Given the description of an element on the screen output the (x, y) to click on. 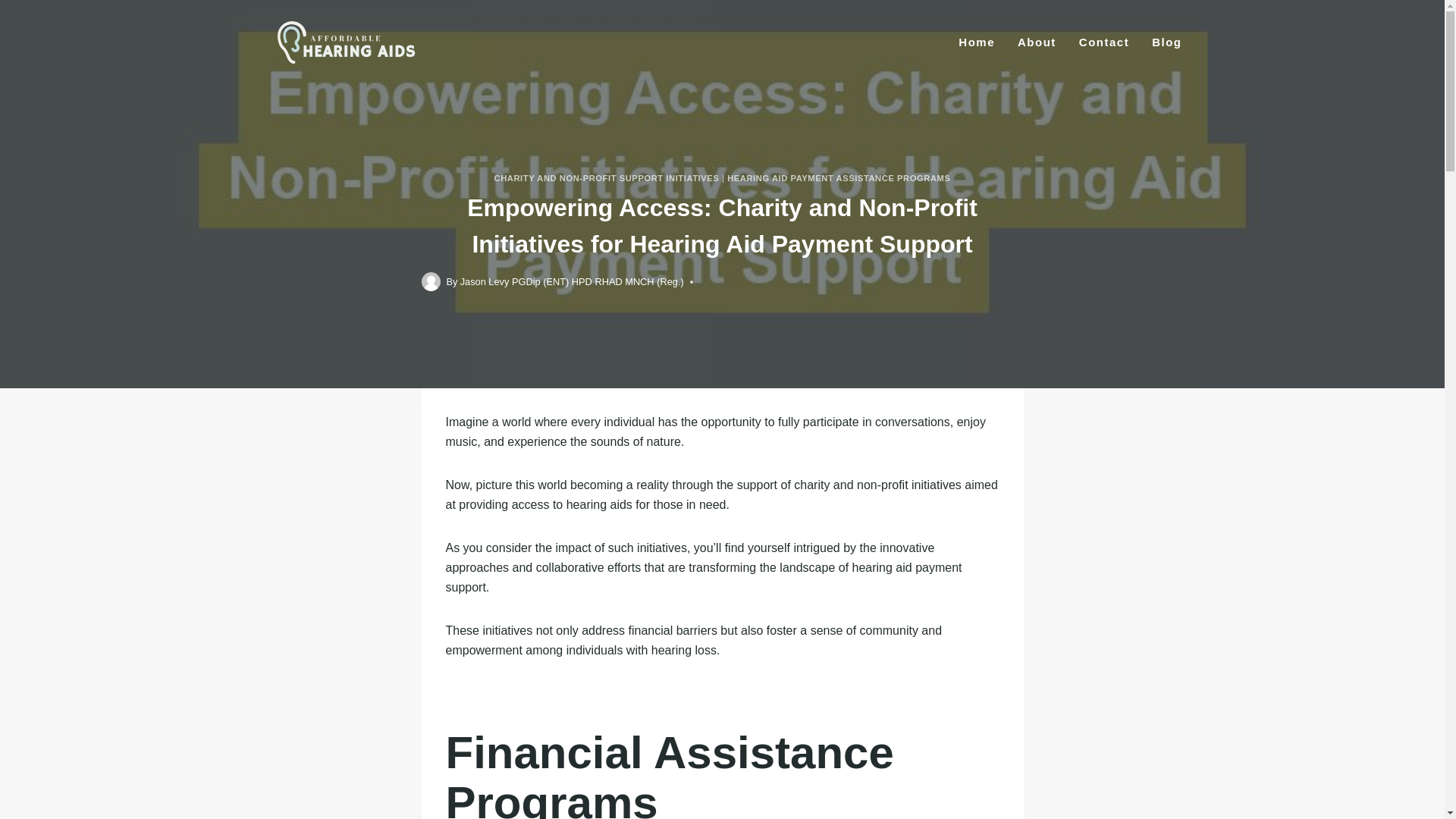
HEARING AID PAYMENT ASSISTANCE PROGRAMS (838, 177)
About (1036, 42)
Contact (1103, 42)
CHARITY AND NON-PROFIT SUPPORT INITIATIVES (607, 177)
Blog (1166, 42)
Home (976, 42)
